Given the description of an element on the screen output the (x, y) to click on. 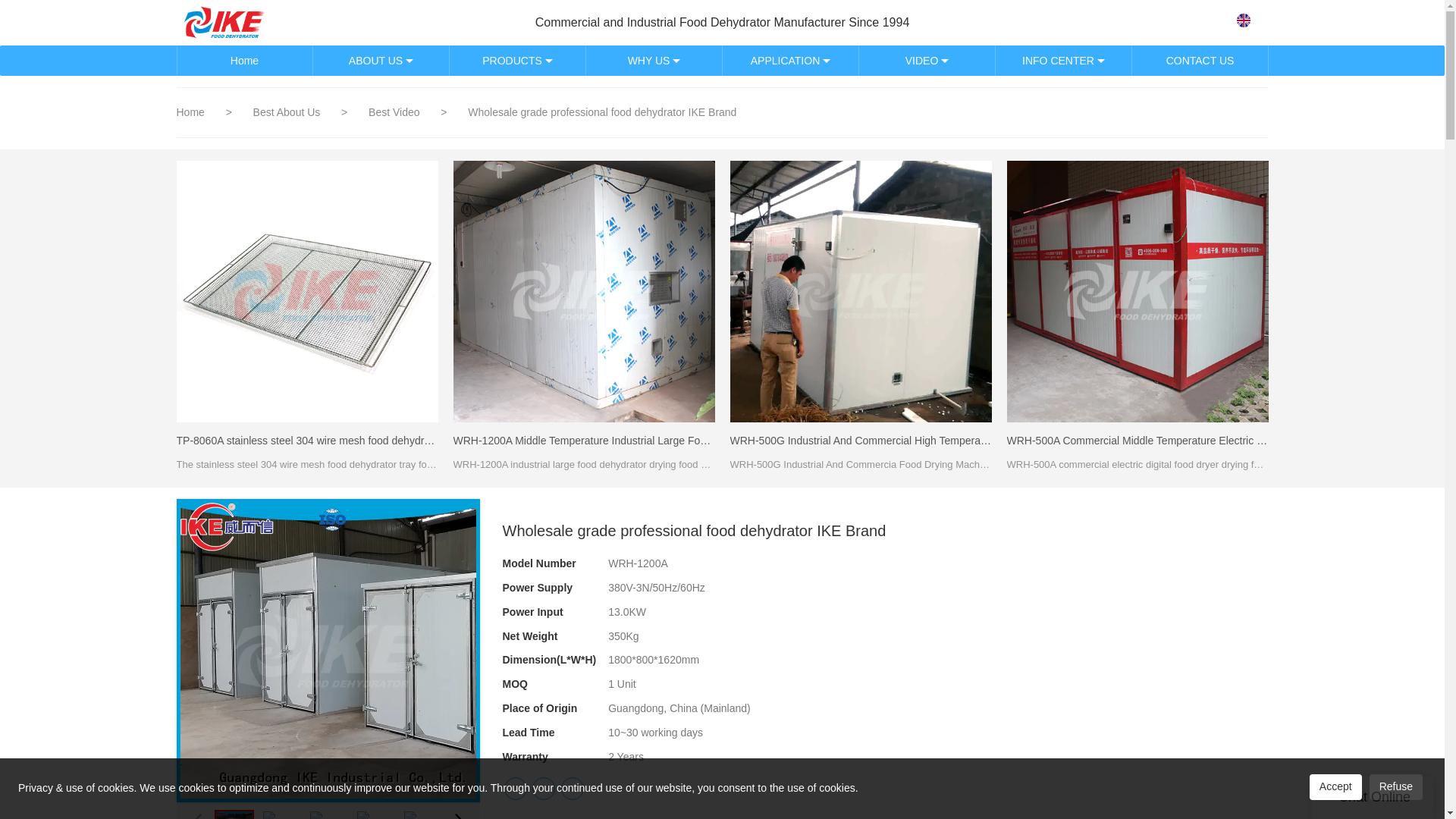
ABOUT US (380, 60)
VIDEO (926, 60)
APPLICATION (790, 60)
WHY US (653, 60)
Home (244, 60)
PRODUCTS (516, 60)
